Given the description of an element on the screen output the (x, y) to click on. 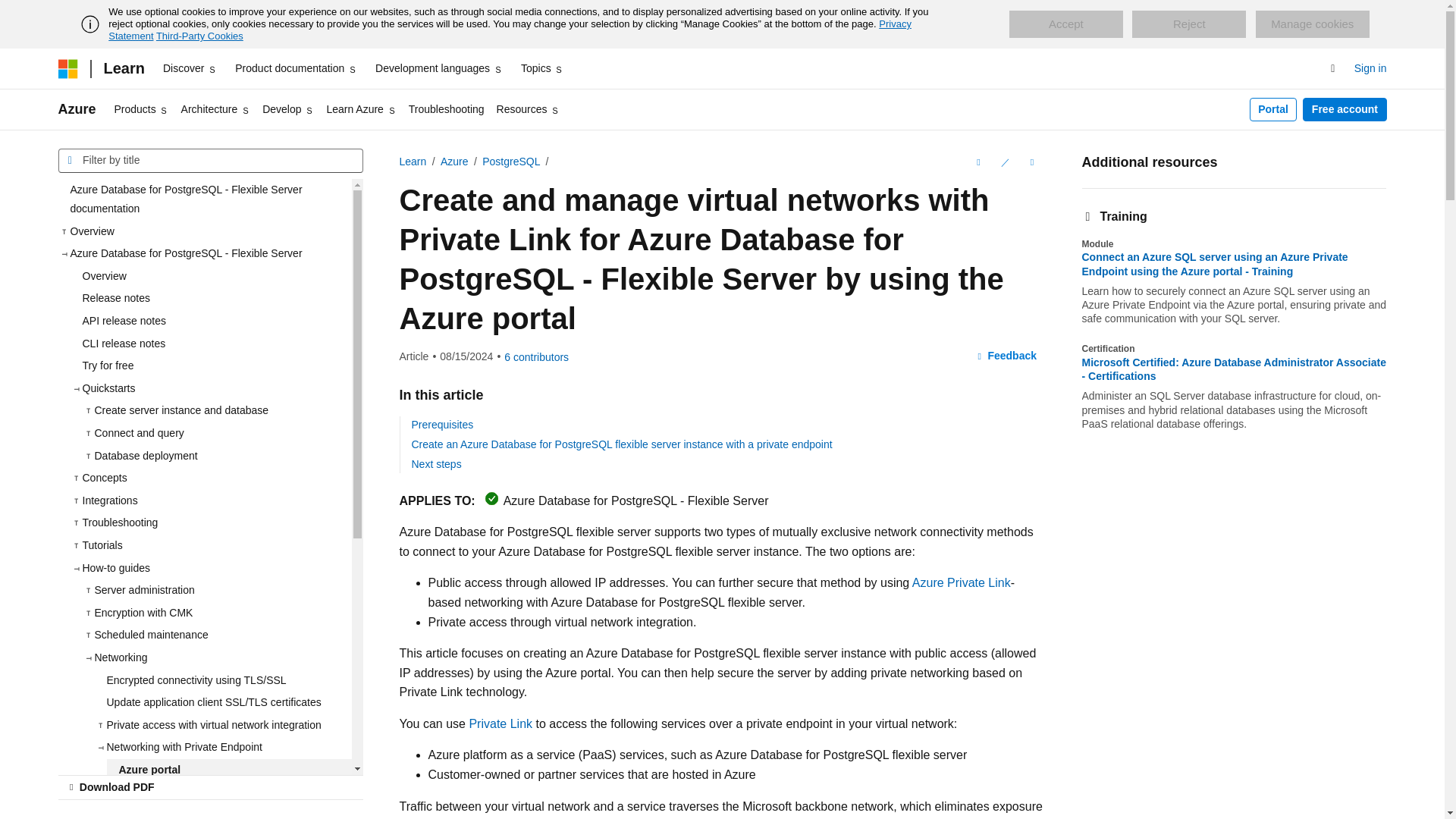
Edit This Document (1004, 161)
Azure (77, 109)
Sign in (1370, 68)
Discover (189, 68)
Third-Party Cookies (199, 35)
Privacy Statement (509, 29)
View all contributors (536, 357)
Development languages (438, 68)
Manage cookies (1312, 23)
Topics (542, 68)
